Given the description of an element on the screen output the (x, y) to click on. 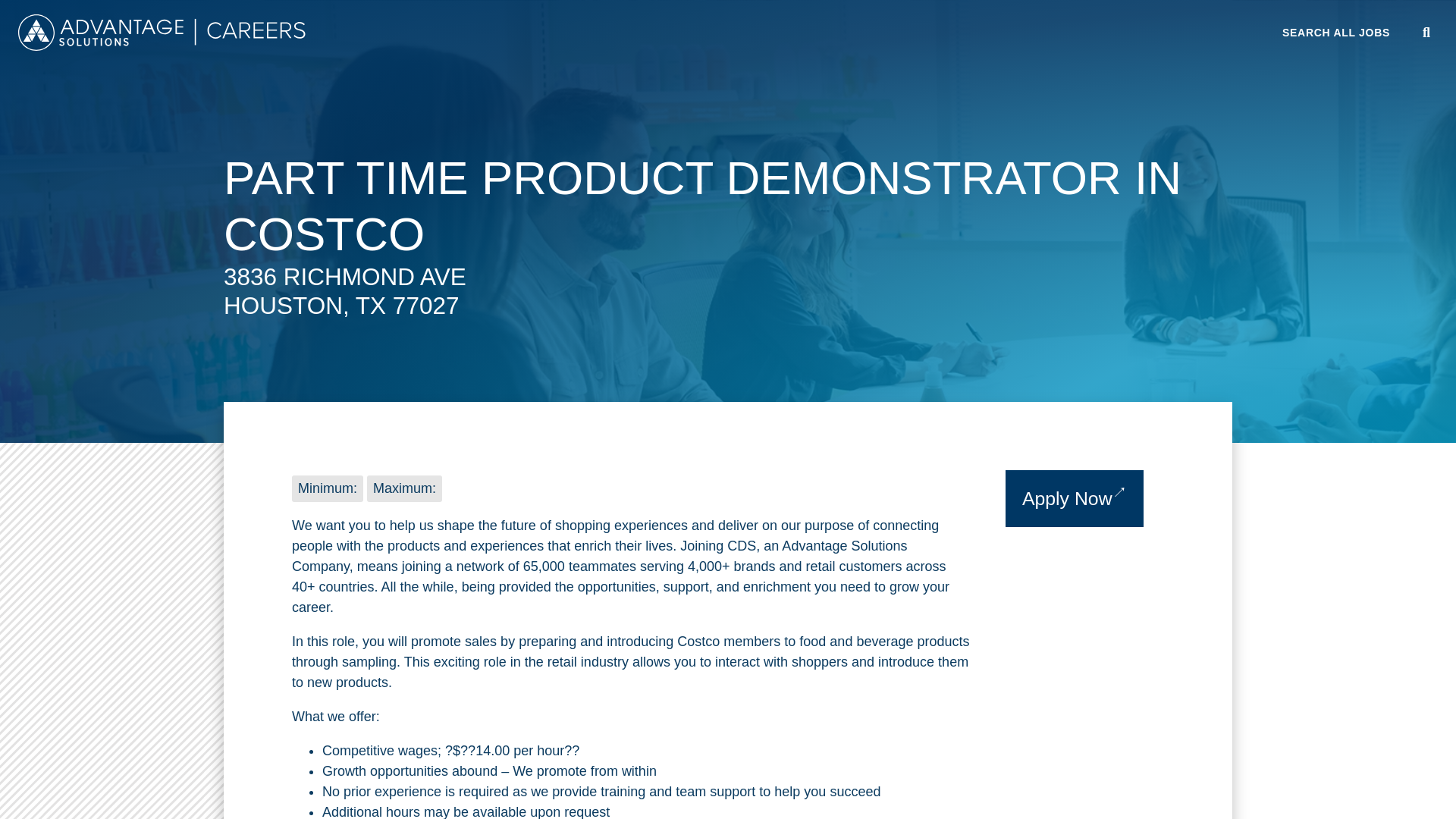
Search All Jobs (1336, 32)
Apply Now (1075, 498)
SEARCH ALL JOBS (1336, 32)
